Given the description of an element on the screen output the (x, y) to click on. 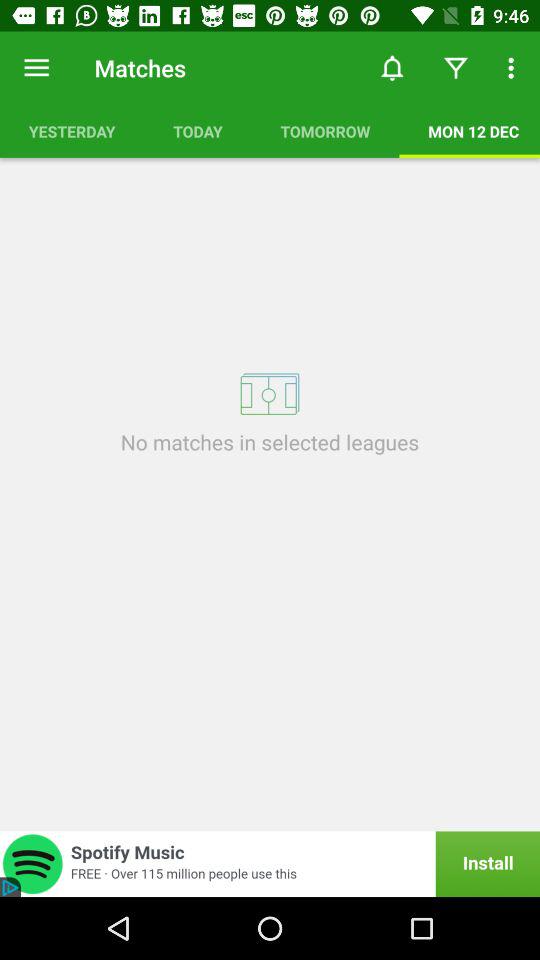
advertisement get spotify app (270, 864)
